Given the description of an element on the screen output the (x, y) to click on. 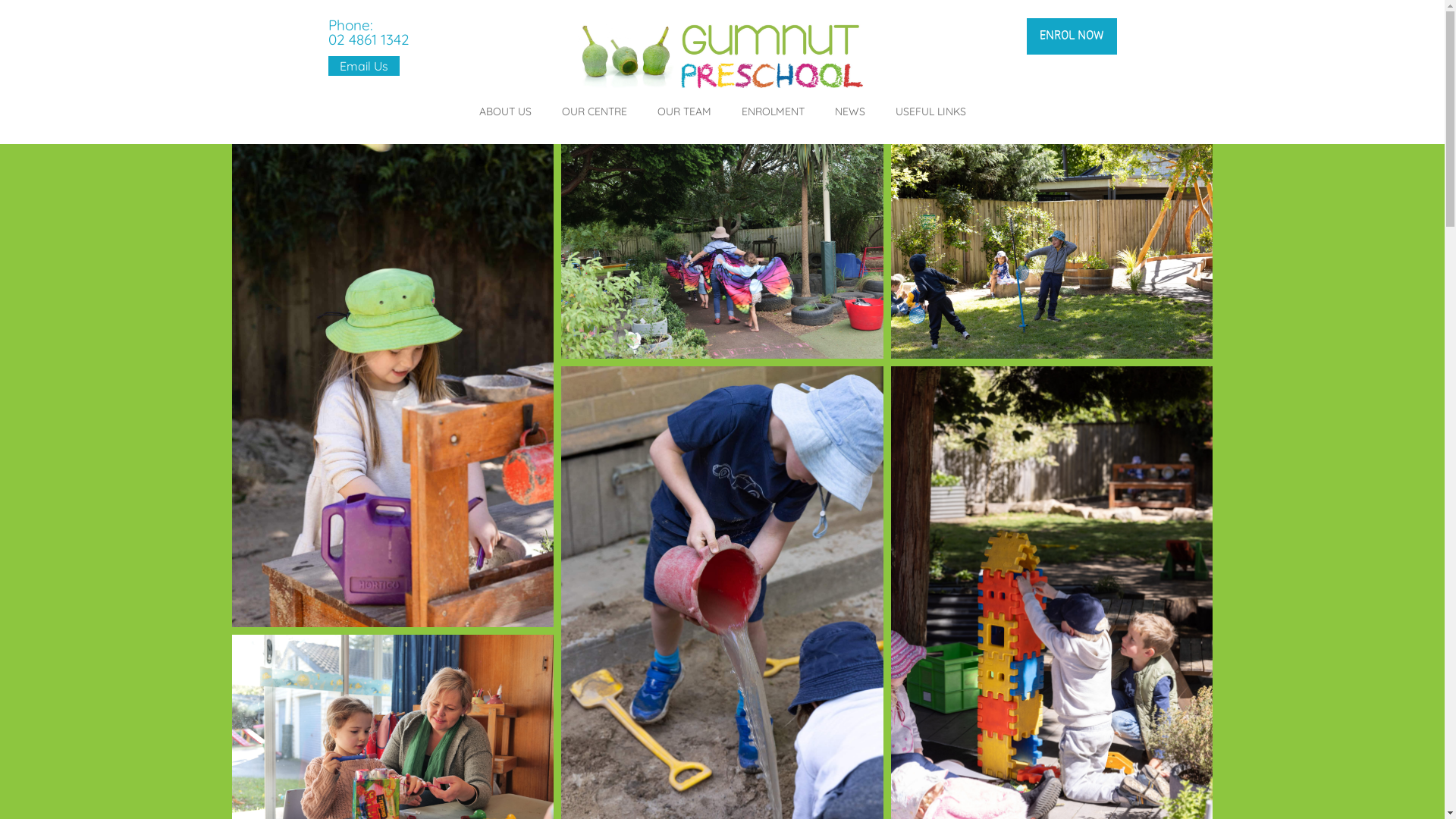
Email Us Element type: text (362, 65)
NEWS Element type: text (849, 111)
USEFUL LINKS Element type: text (929, 111)
ABOUT US Element type: text (505, 111)
ENROL NOW Element type: text (1071, 36)
Phone: 
02 4861 1342 Element type: text (367, 32)
OUR TEAM Element type: text (683, 111)
ENROLMENT Element type: text (772, 111)
OUR CENTRE Element type: text (593, 111)
